Given the description of an element on the screen output the (x, y) to click on. 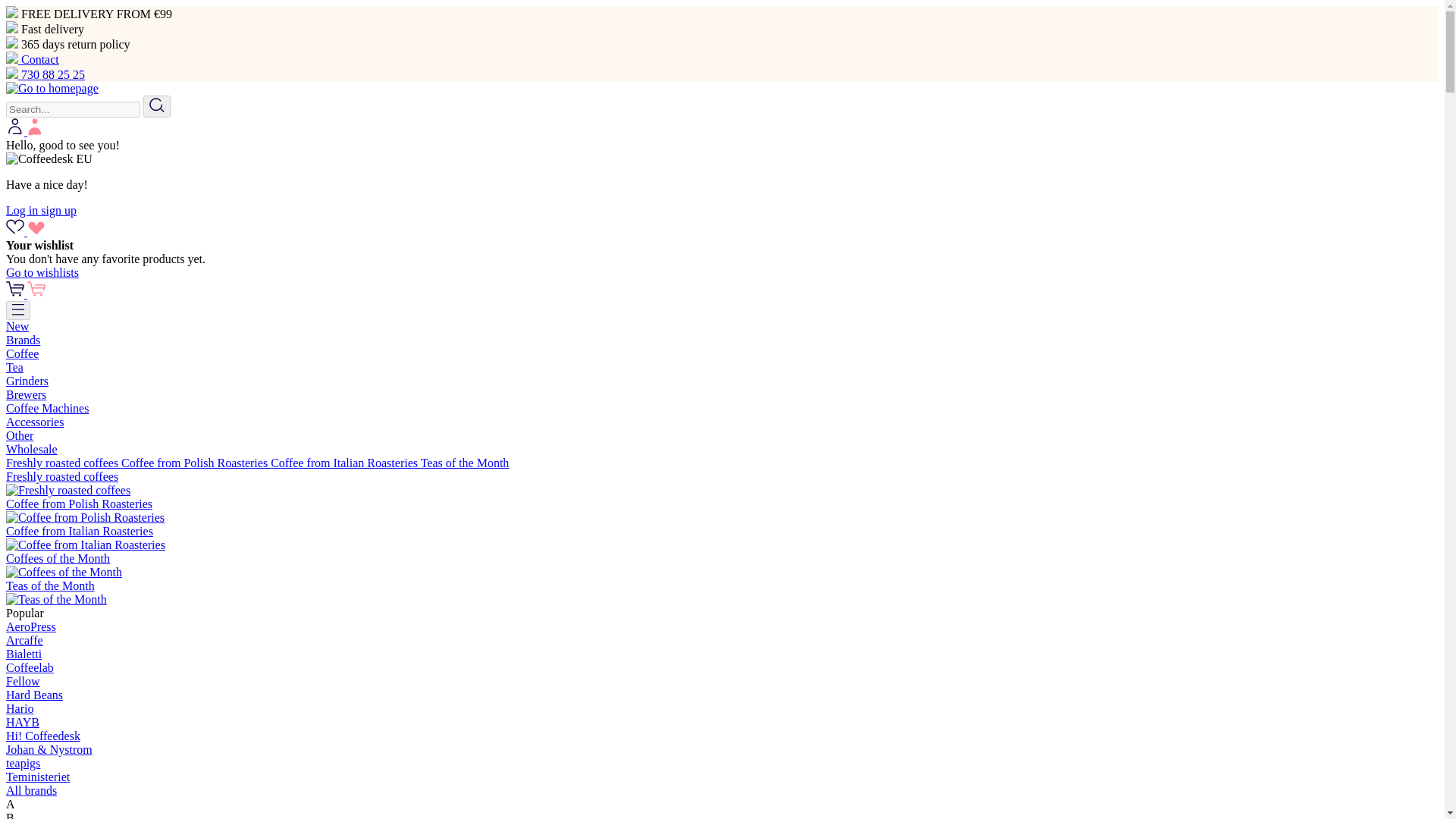
730 88 25 25 (44, 74)
Wishlist (25, 231)
Teas of the Month (464, 462)
Freshly roasted coffees (62, 462)
Hard Beans (33, 694)
Fellow (22, 680)
Coffeelab (29, 667)
Freshly roasted coffees (62, 462)
HAYB (22, 721)
Log in (22, 210)
Bialetti (23, 653)
Teas of the Month (464, 462)
Sign in (23, 131)
AeroPress (30, 626)
Arcaffe (24, 640)
